Given the description of an element on the screen output the (x, y) to click on. 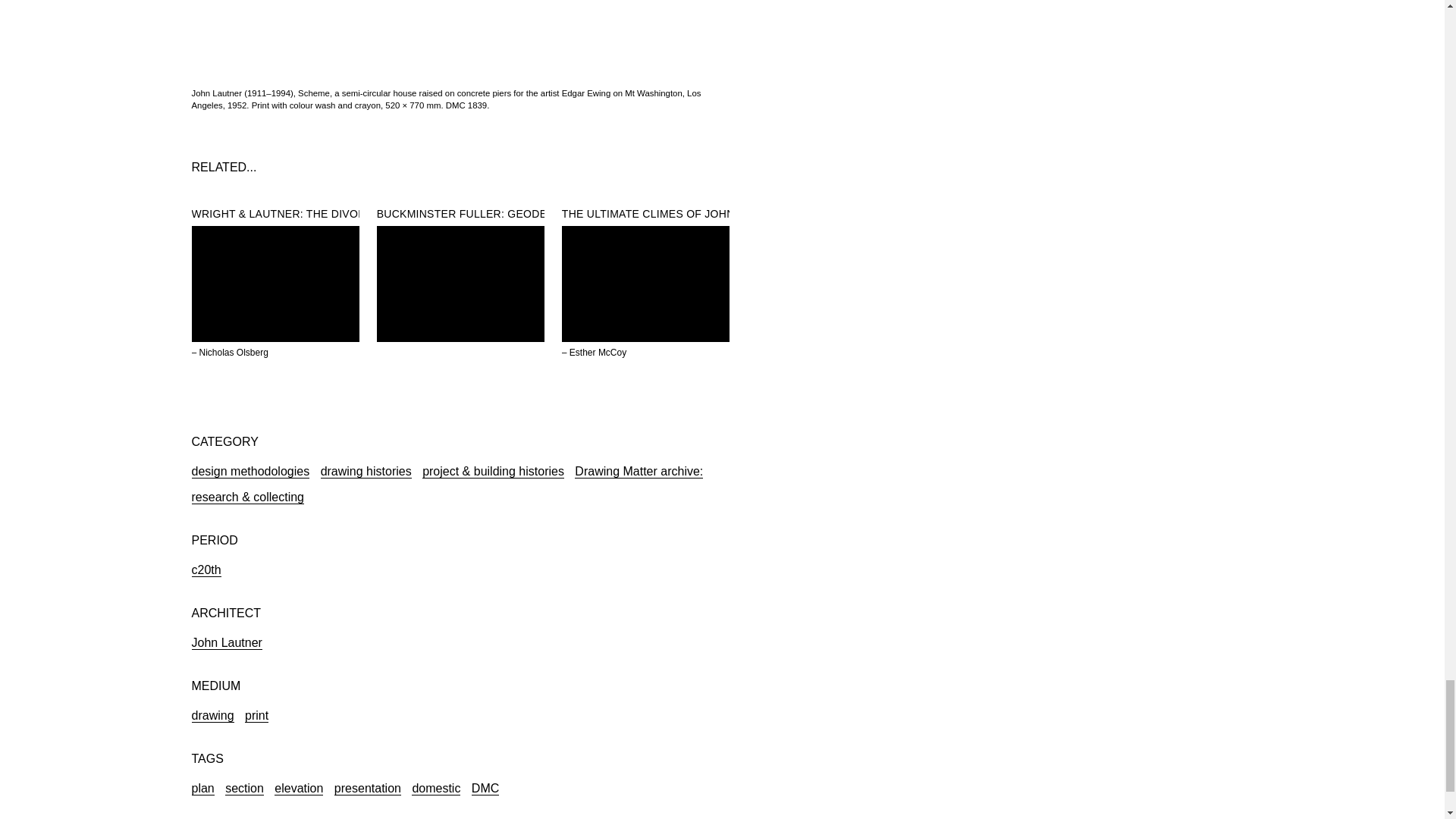
John Lautner (226, 642)
design methodologies (249, 470)
DMC (485, 787)
Esther McCoy (597, 352)
drawing histories (366, 470)
Nicholas Olsberg (233, 352)
elevation (299, 787)
c20th (205, 569)
BUCKMINSTER FULLER: GEODESIC CHANDELIER (508, 214)
domestic (436, 787)
